Given the description of an element on the screen output the (x, y) to click on. 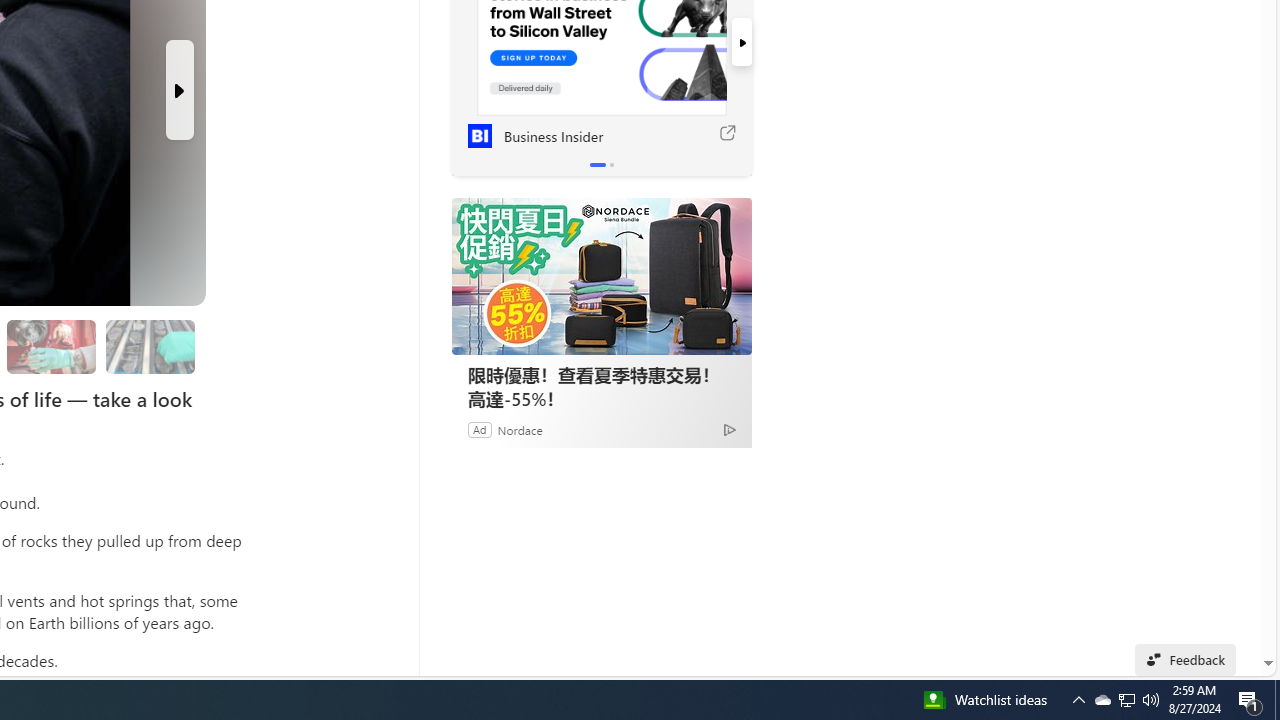
Next Slide (179, 89)
previous (461, 42)
Class: progress (149, 343)
Researchers are still studying the samples (150, 346)
Researchers are still studying the samples (149, 346)
